Given the description of an element on the screen output the (x, y) to click on. 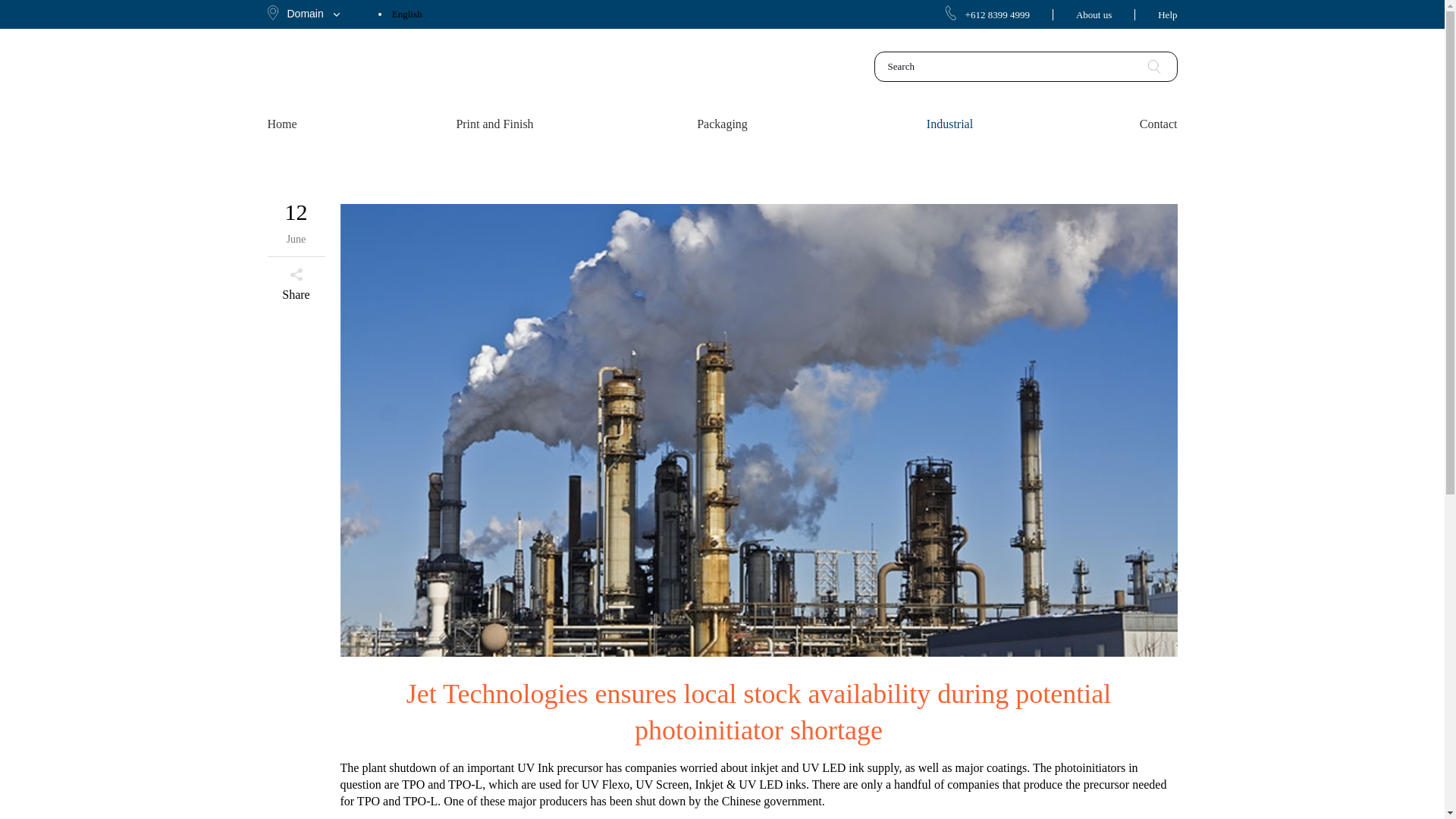
Bahasa (405, 42)
Print and Finish (494, 123)
About us (1093, 14)
Home (323, 123)
Help (1166, 14)
Contact (1119, 123)
English (406, 13)
Industrial (948, 123)
Packaging (721, 123)
